Given the description of an element on the screen output the (x, y) to click on. 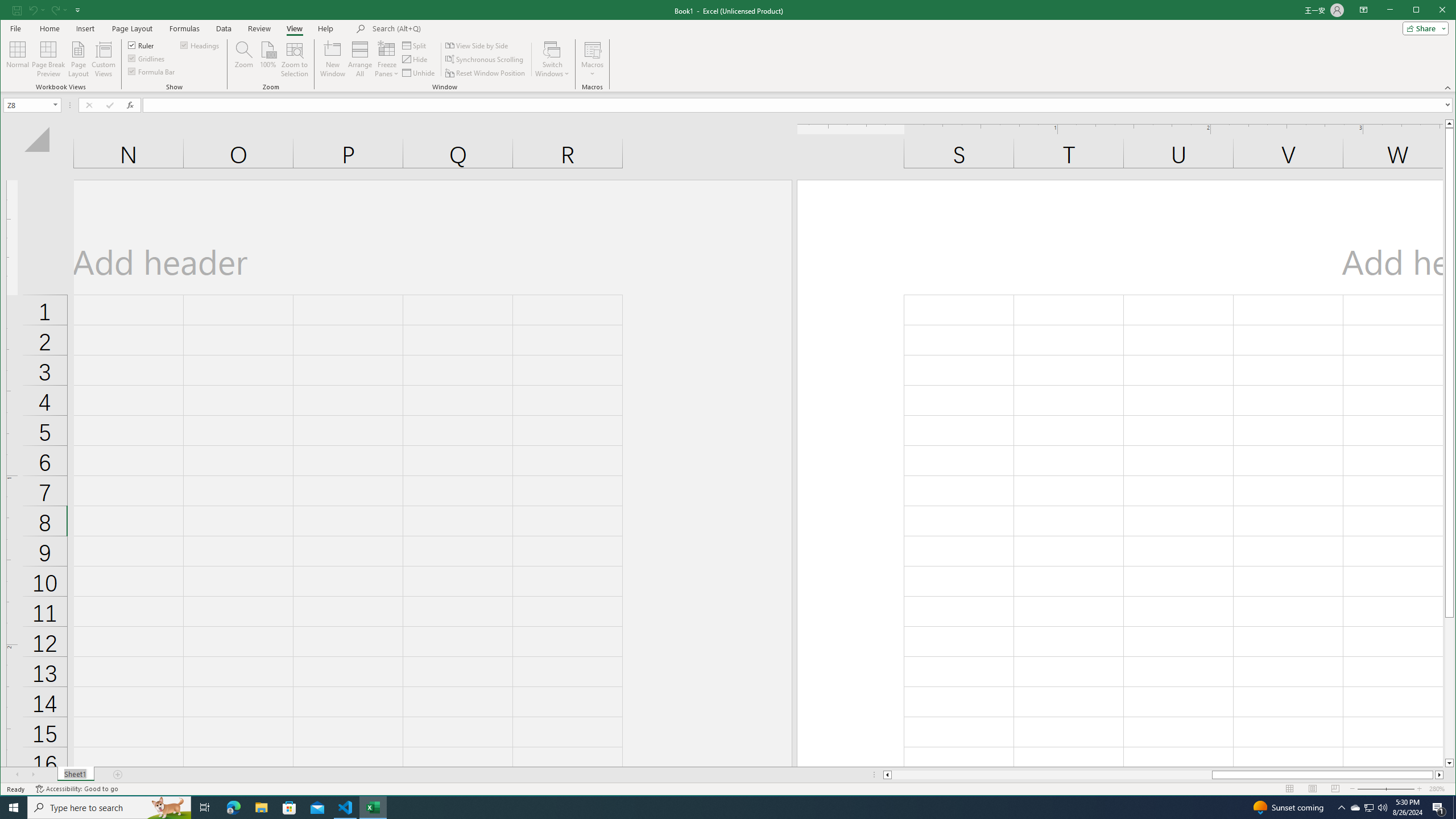
Zoom to Selection (294, 59)
Sheet Tab (75, 774)
Running applications (717, 807)
